Given the description of an element on the screen output the (x, y) to click on. 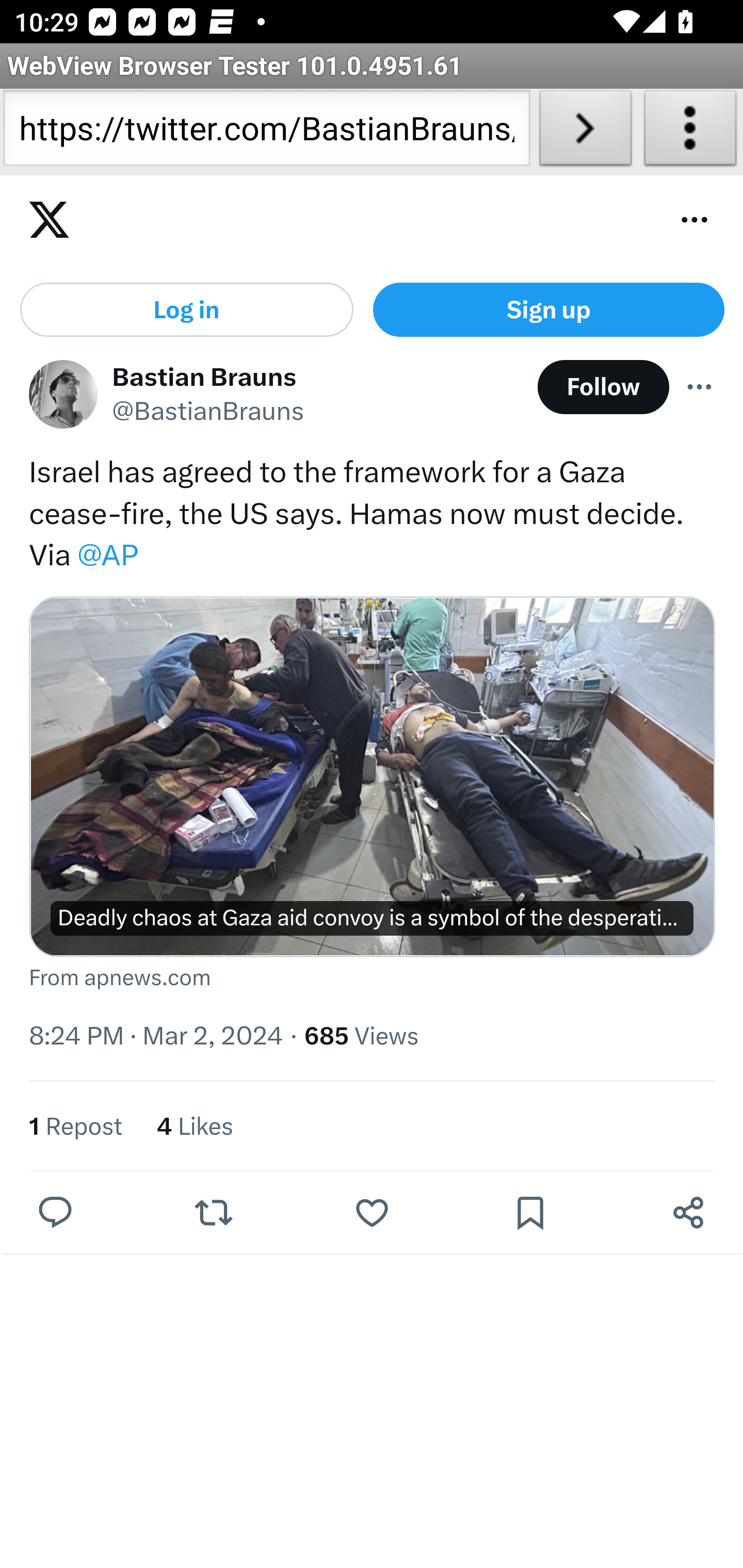
Load URL (585, 132)
About WebView (690, 132)
BastianBrauns (63, 395)
Bastian Brauns (204, 377)
Follow @BastianBrauns (602, 388)
More (699, 388)
@BastianBrauns (208, 413)
@AP (106, 556)
From apnews.com From  apnews.com (372, 979)
8:24 PM · Mar 2, 2024 (155, 1036)
1 Repost 1   Repost (75, 1127)
4 Likes 4   Likes (194, 1127)
Reply (55, 1212)
Repost (212, 1212)
Like (371, 1212)
0 Bookmarks. Bookmark (534, 1212)
Share post (688, 1212)
